Given the description of an element on the screen output the (x, y) to click on. 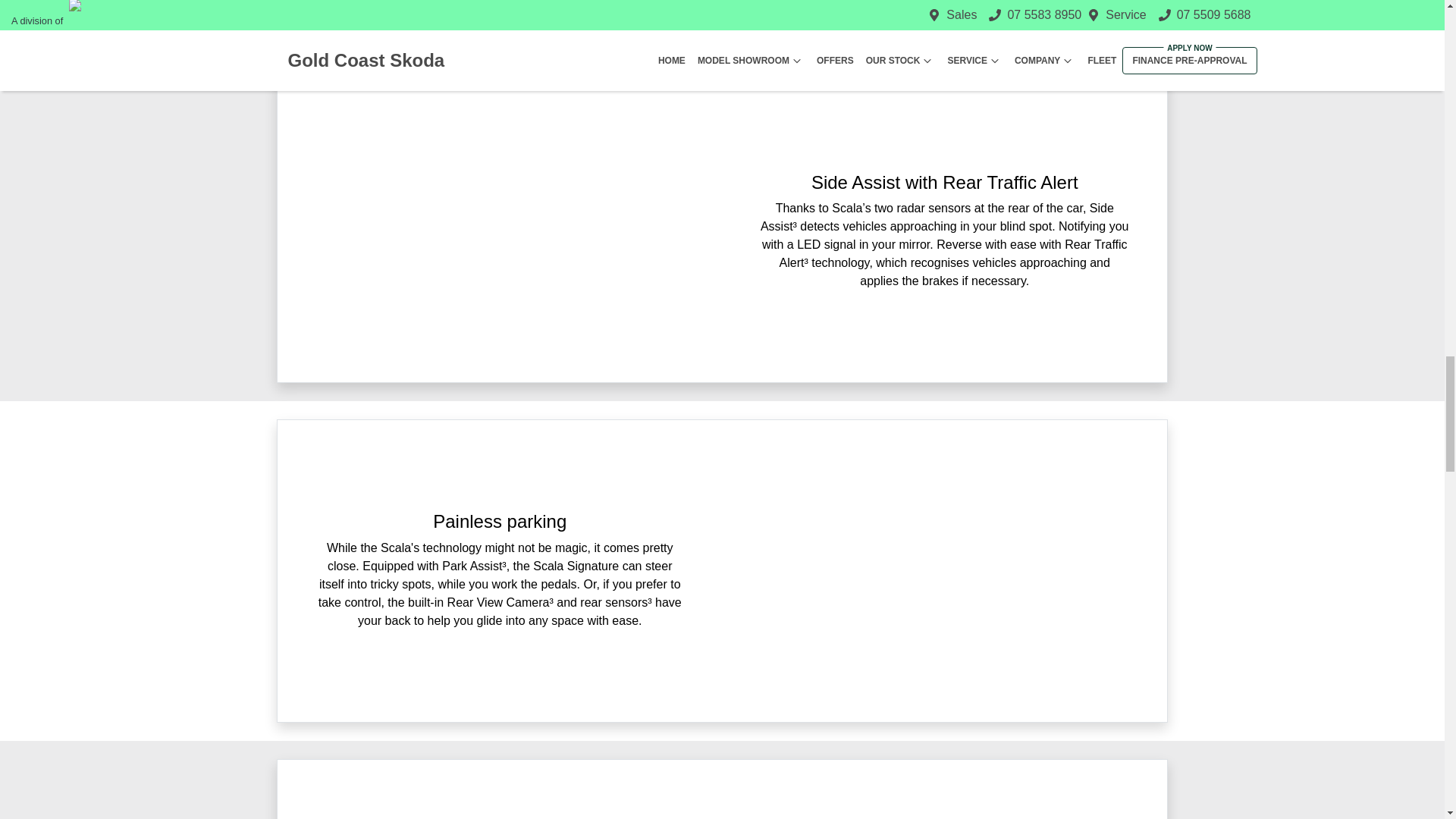
View All Scalas (721, 12)
